Given the description of an element on the screen output the (x, y) to click on. 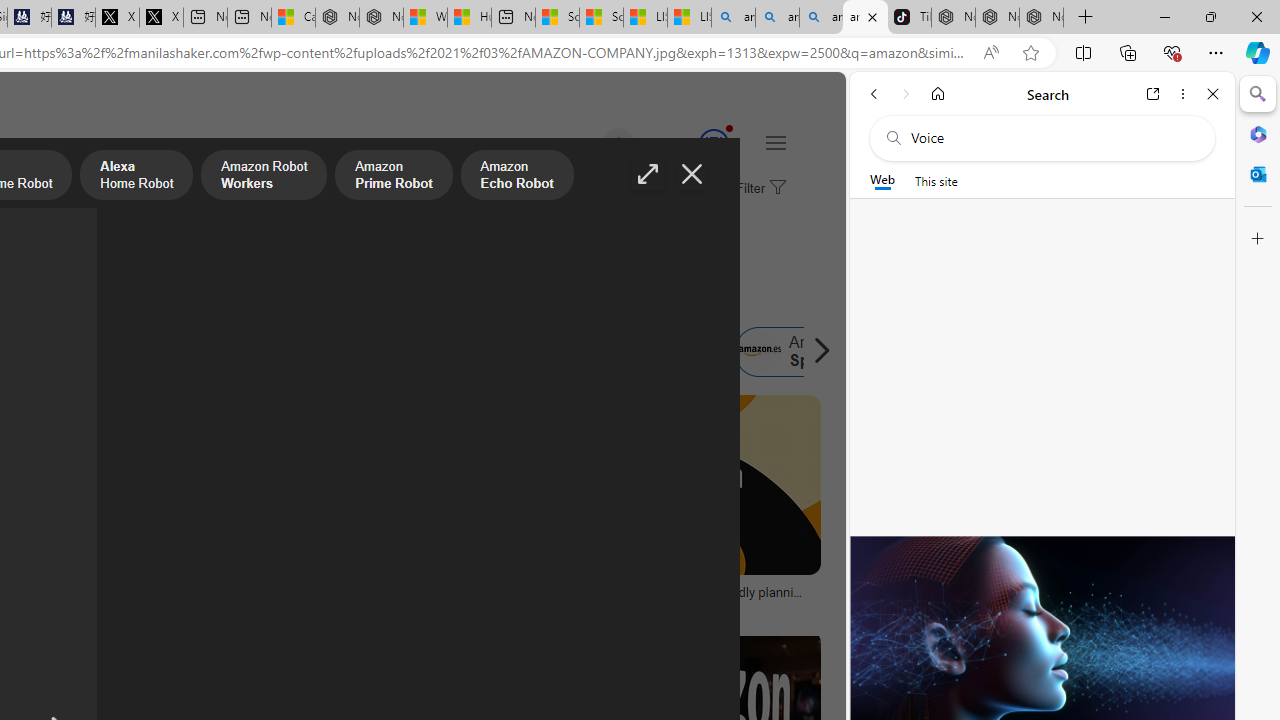
logopng.com.br (63, 605)
Wildlife - MSN (425, 17)
Amazon Prime Robot (394, 177)
Forward (906, 93)
Amazon.com.au (343, 351)
More options (1182, 93)
